Given the description of an element on the screen output the (x, y) to click on. 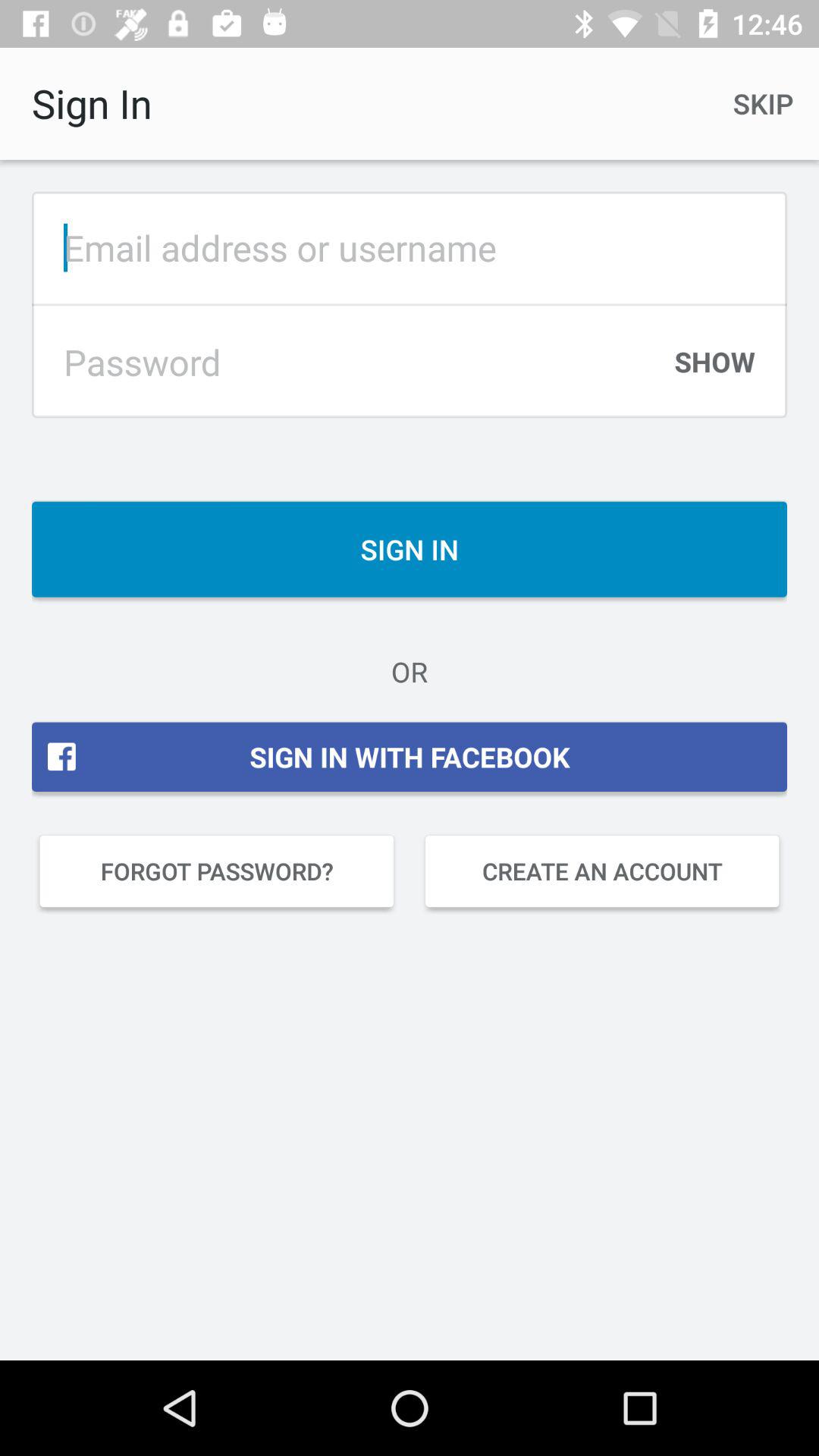
type password (349, 361)
